Given the description of an element on the screen output the (x, y) to click on. 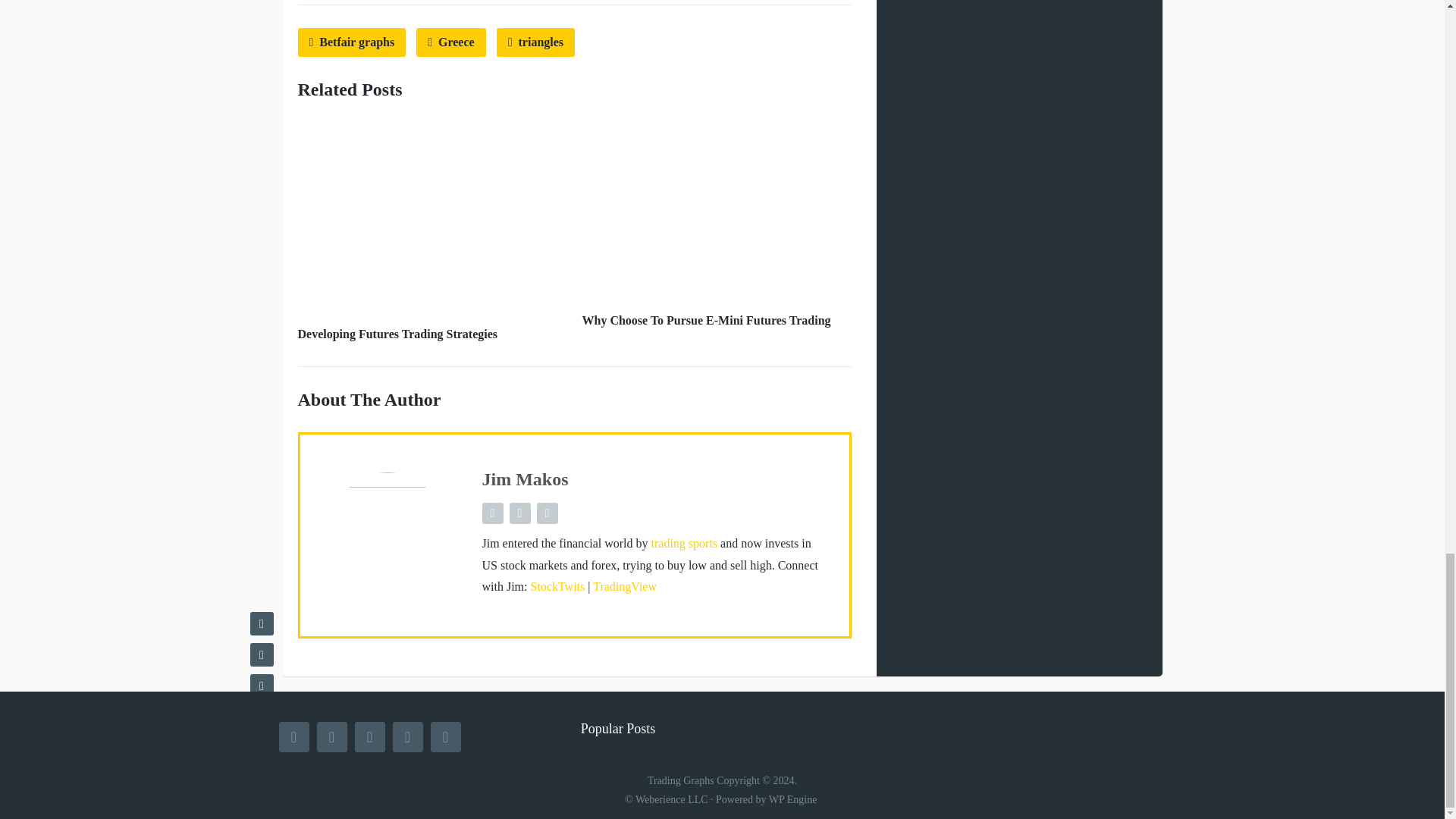
triangles (535, 42)
Developing Futures Trading Strategies (397, 333)
Why Choose To Pursue E-Mini Futures Trading (706, 319)
Jim Makos (525, 478)
Greece (451, 42)
Developing Futures Trading Strategies (397, 333)
Why Choose To Pursue E-Mini Futures Trading (706, 319)
Betfair graphs (351, 42)
